Given the description of an element on the screen output the (x, y) to click on. 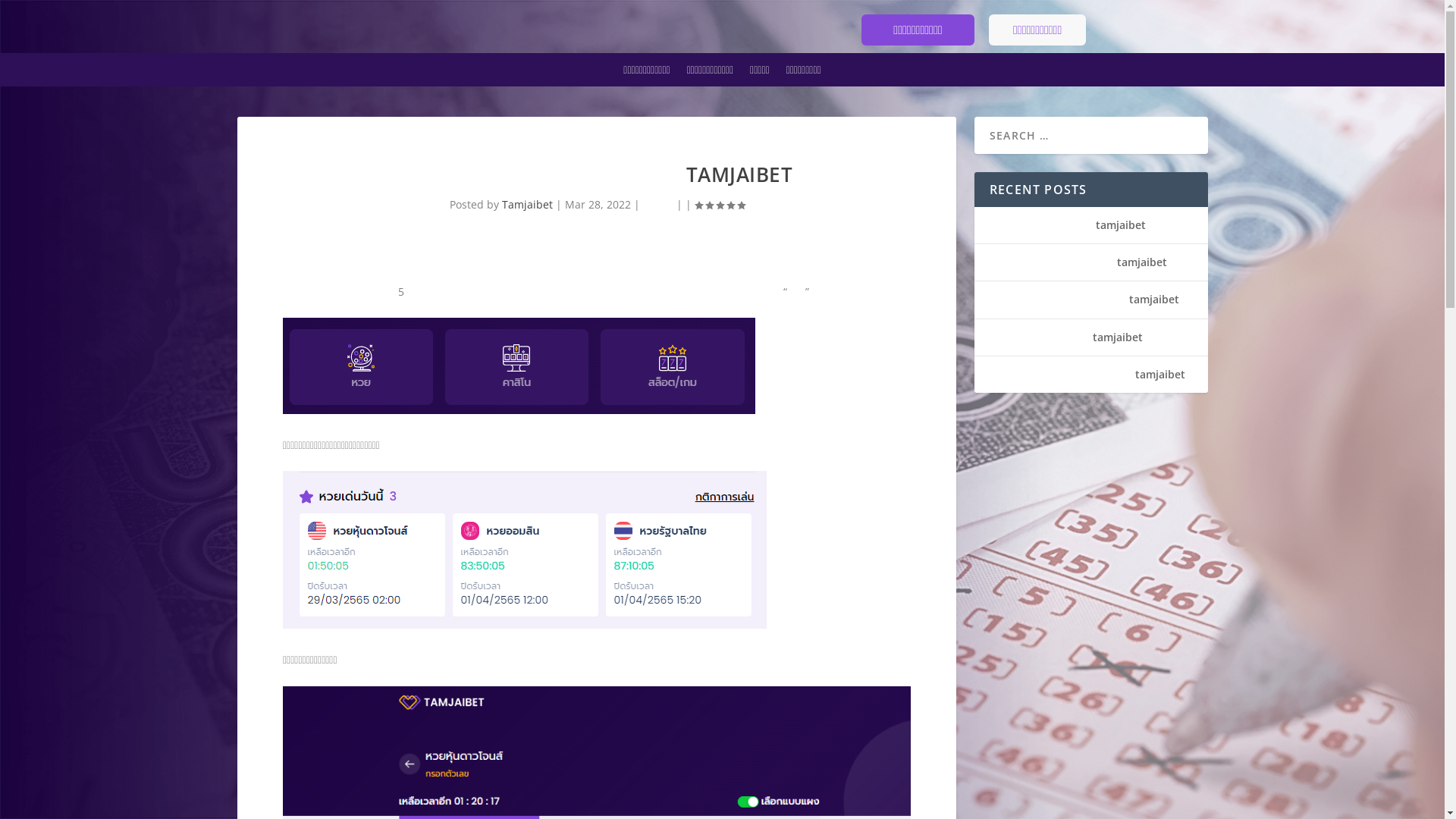
Tamjaibet Element type: text (526, 204)
Search Element type: text (29, 14)
Rating: 5.00 Element type: hover (718, 204)
